Given the description of an element on the screen output the (x, y) to click on. 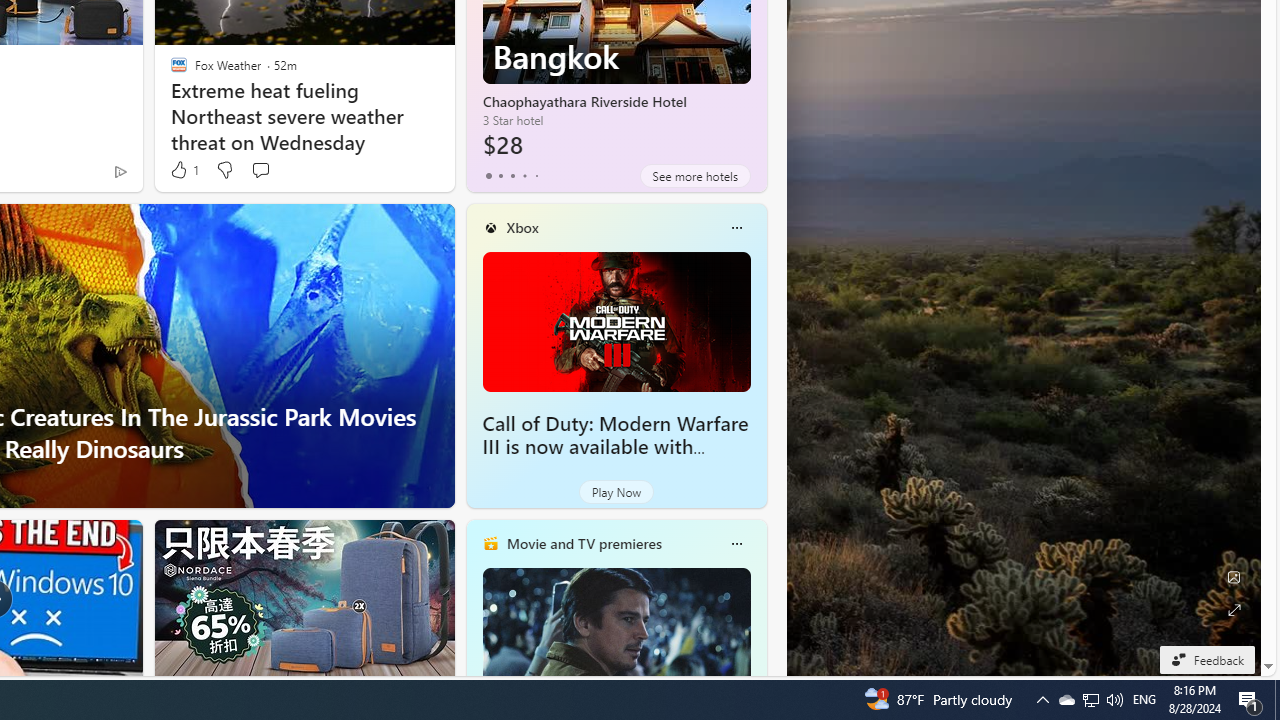
tab-4 (535, 175)
See more hotels (694, 175)
Feedback (1206, 659)
tab-3 (524, 175)
Expand background (1233, 610)
